Given the description of an element on the screen output the (x, y) to click on. 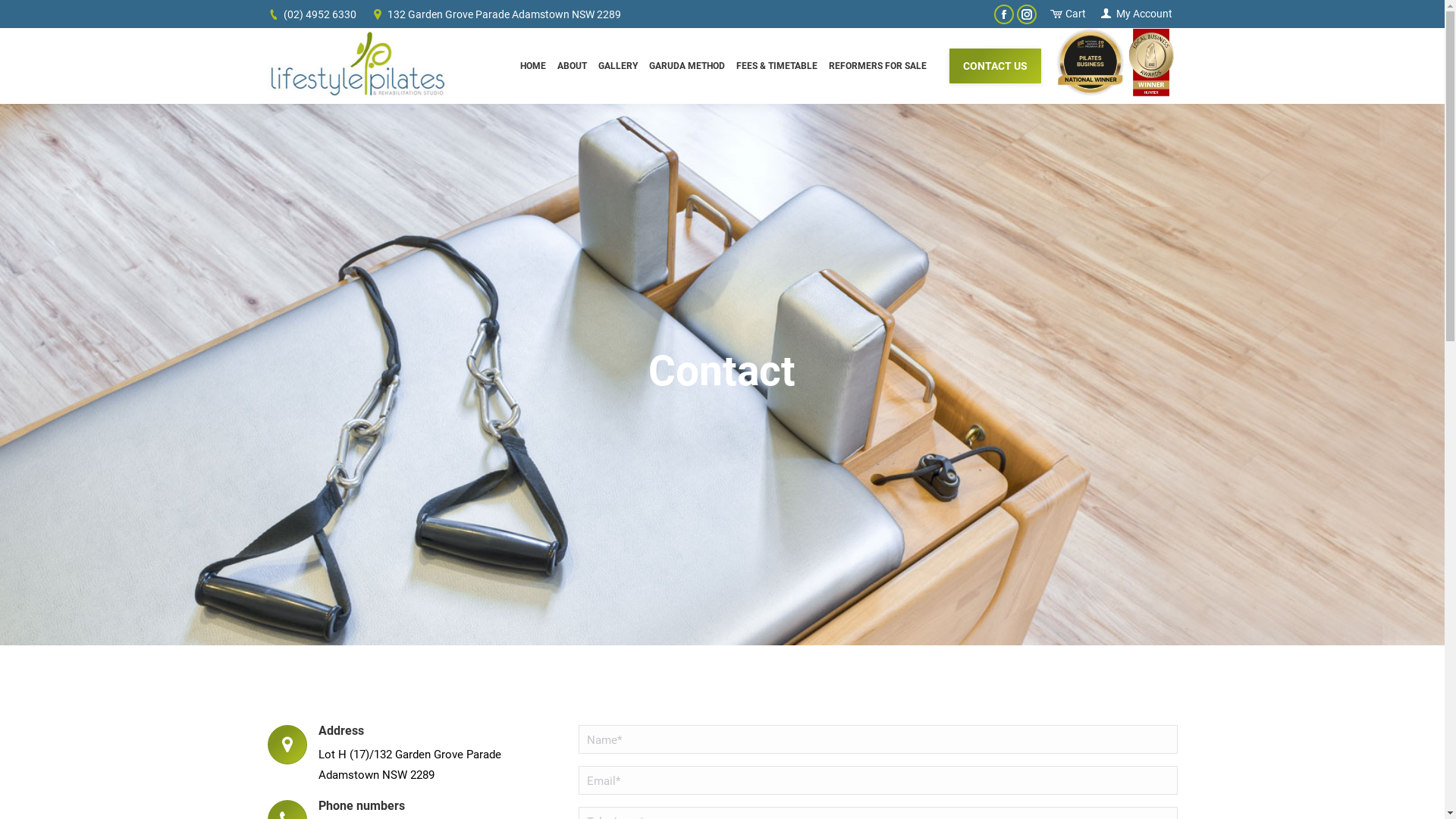
FEES & TIMETABLE Element type: text (775, 65)
HOME Element type: text (533, 65)
Instagram Element type: text (1026, 14)
Facebook Element type: text (1003, 14)
My Account Element type: text (1135, 13)
GARUDA METHOD Element type: text (686, 65)
Cart Element type: text (1066, 13)
ABOUT Element type: text (571, 65)
REFORMERS FOR SALE Element type: text (876, 65)
GALLERY Element type: text (617, 65)
CONTACT US Element type: text (995, 65)
